Given the description of an element on the screen output the (x, y) to click on. 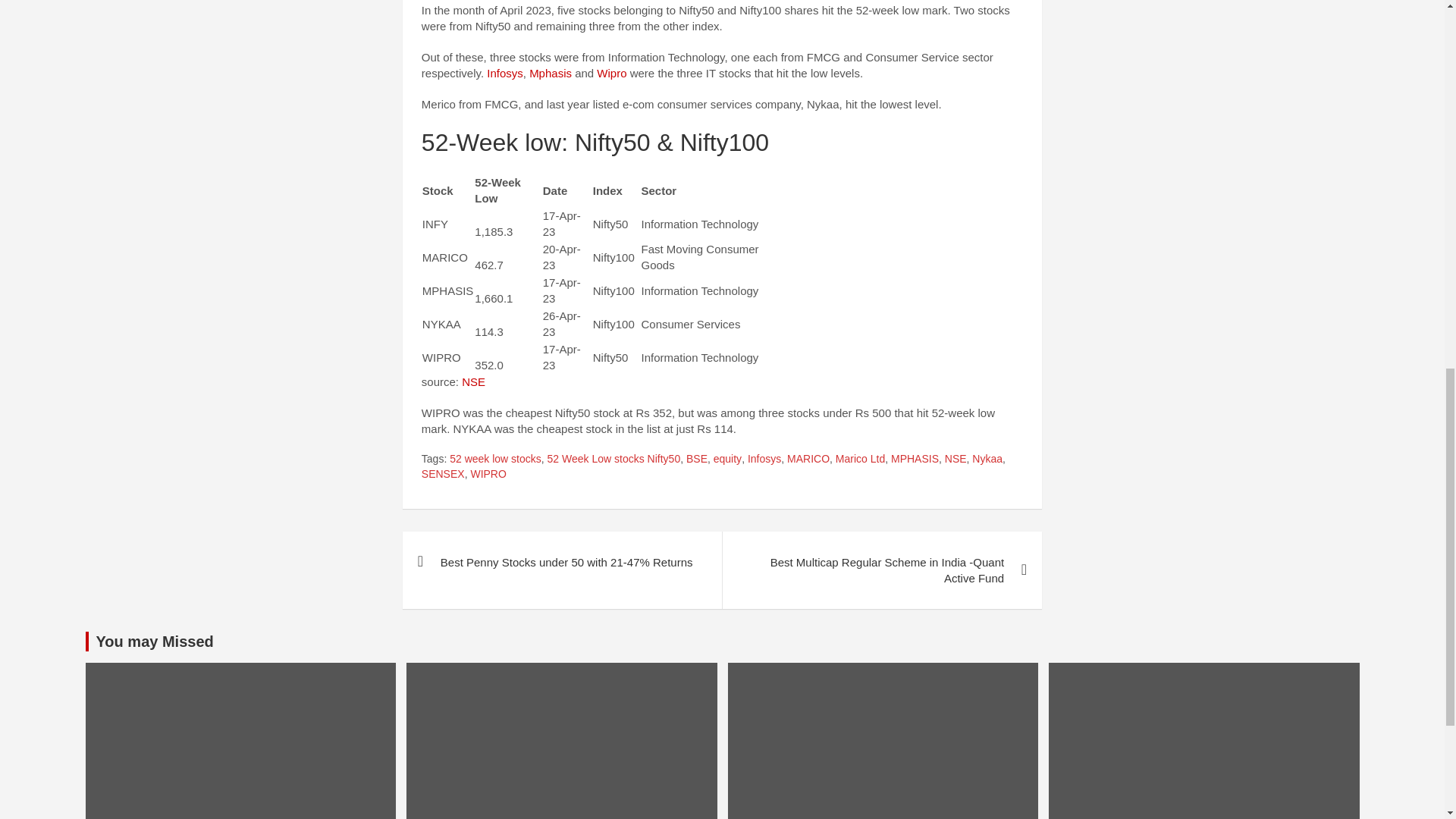
Infosys (504, 72)
NSE (472, 381)
Mphasis (550, 72)
Wipro (611, 72)
52 week low stocks (495, 459)
BSE (696, 459)
52 Week Low stocks Nifty50 (614, 459)
equity (727, 459)
